Given the description of an element on the screen output the (x, y) to click on. 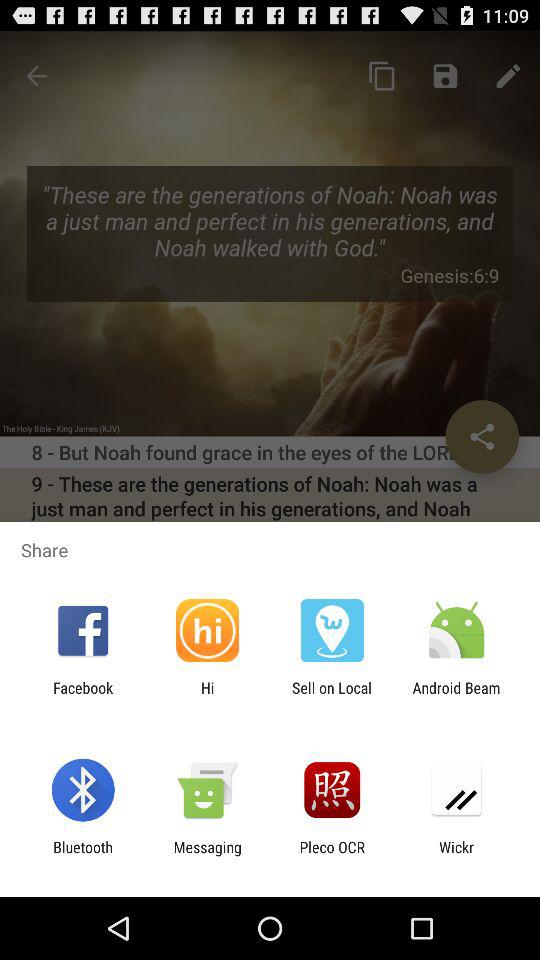
open icon to the left of sell on local app (207, 696)
